Given the description of an element on the screen output the (x, y) to click on. 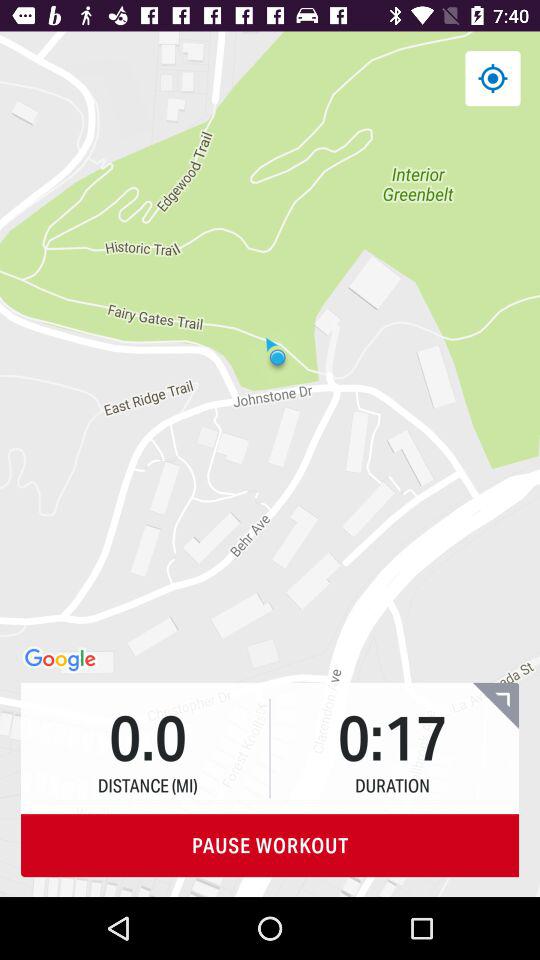
choose the item above pause workout icon (495, 705)
